Given the description of an element on the screen output the (x, y) to click on. 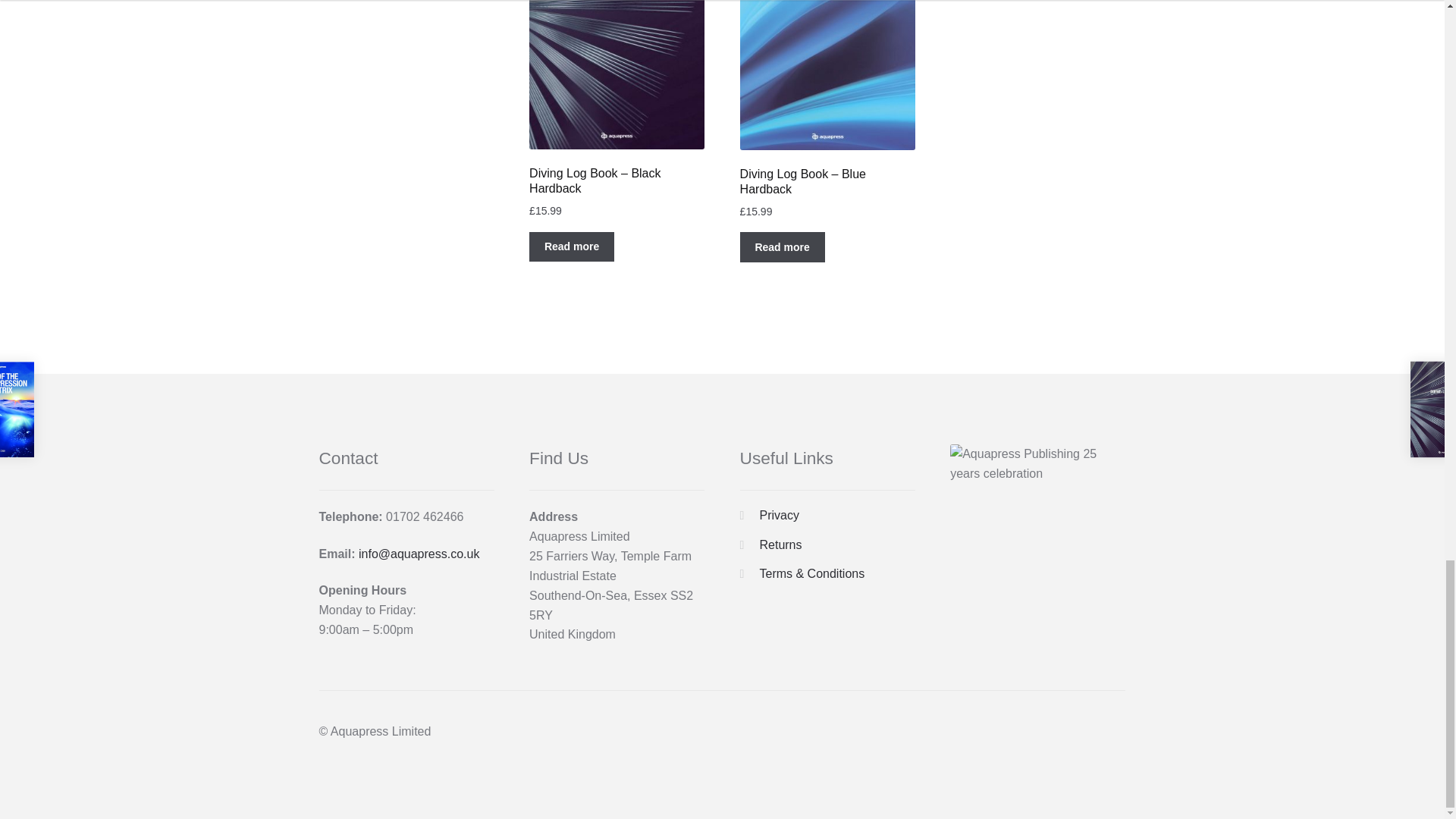
Read more (782, 246)
Returns (780, 544)
Read more (571, 246)
Privacy (777, 514)
